Given the description of an element on the screen output the (x, y) to click on. 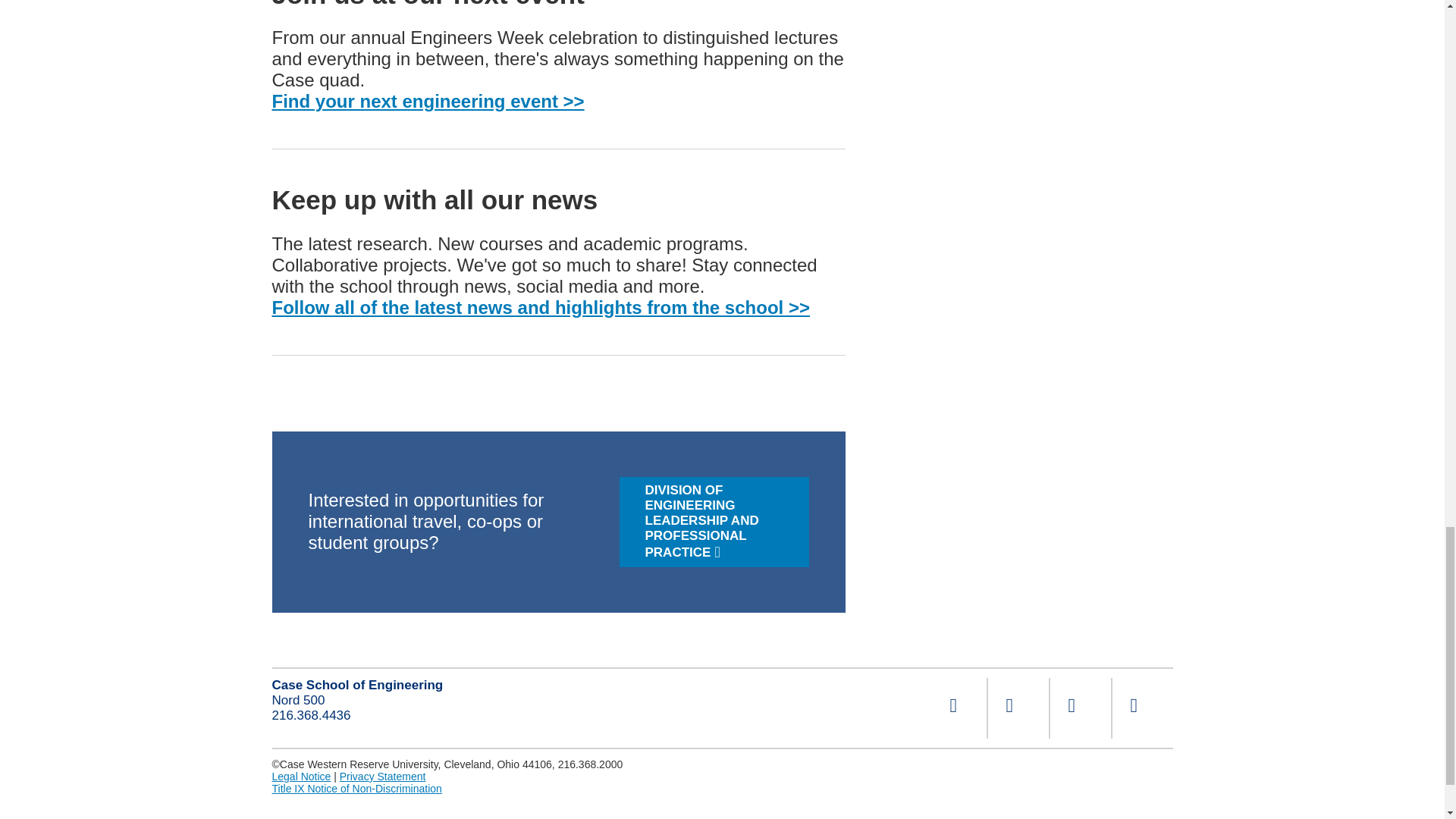
Twitter (1079, 708)
Instagram (1017, 708)
